Given the description of an element on the screen output the (x, y) to click on. 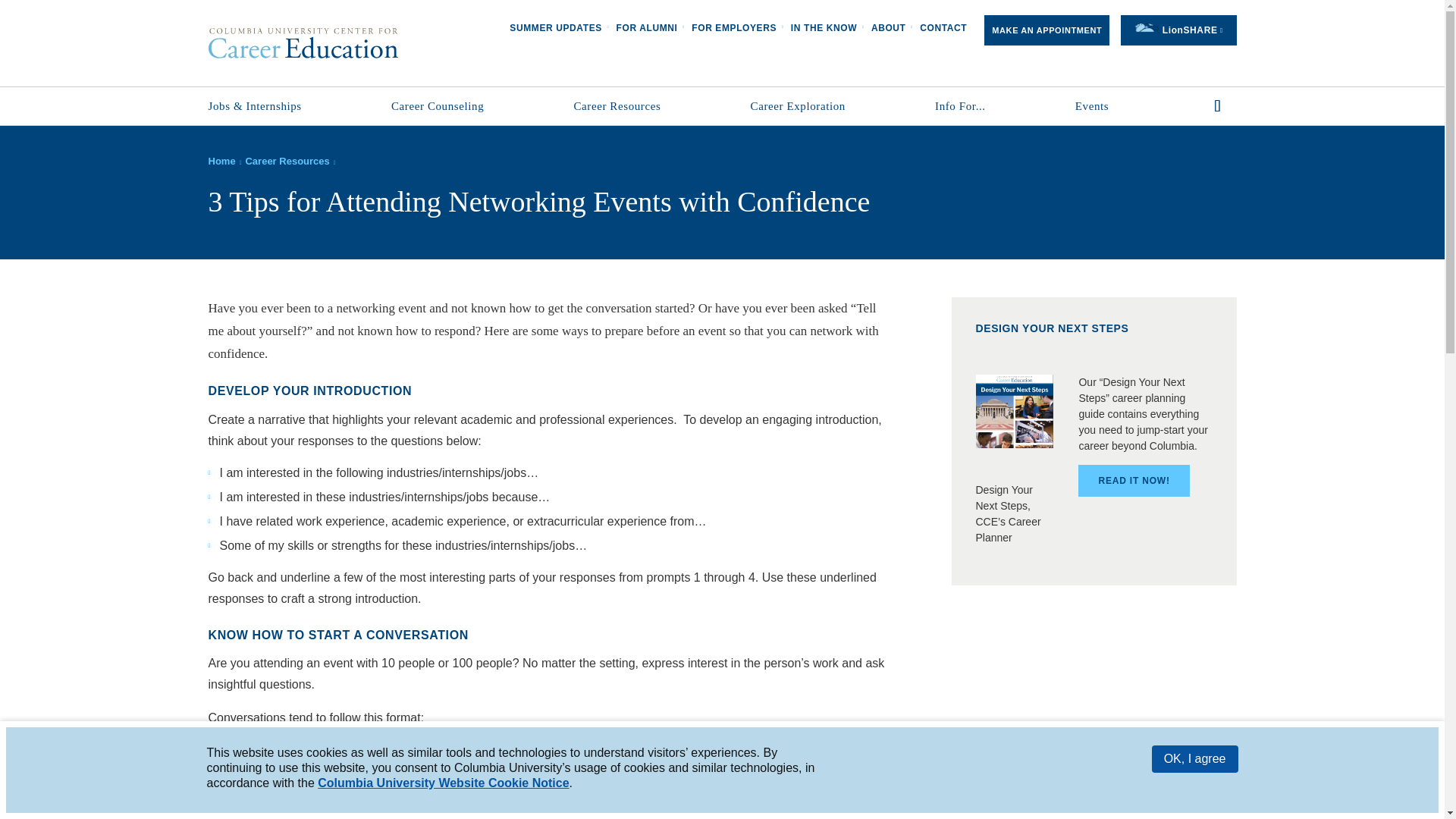
IN THE KNOW (822, 30)
Career Resources (633, 105)
CONTACT (942, 30)
SUMMER UPDATES (554, 30)
Columbia University Website Cookie Notice (443, 782)
ABOUT (887, 30)
Career Exploration (815, 105)
Career Counseling (453, 105)
OK, I agree (1195, 759)
LionSHARE (1178, 30)
